Given the description of an element on the screen output the (x, y) to click on. 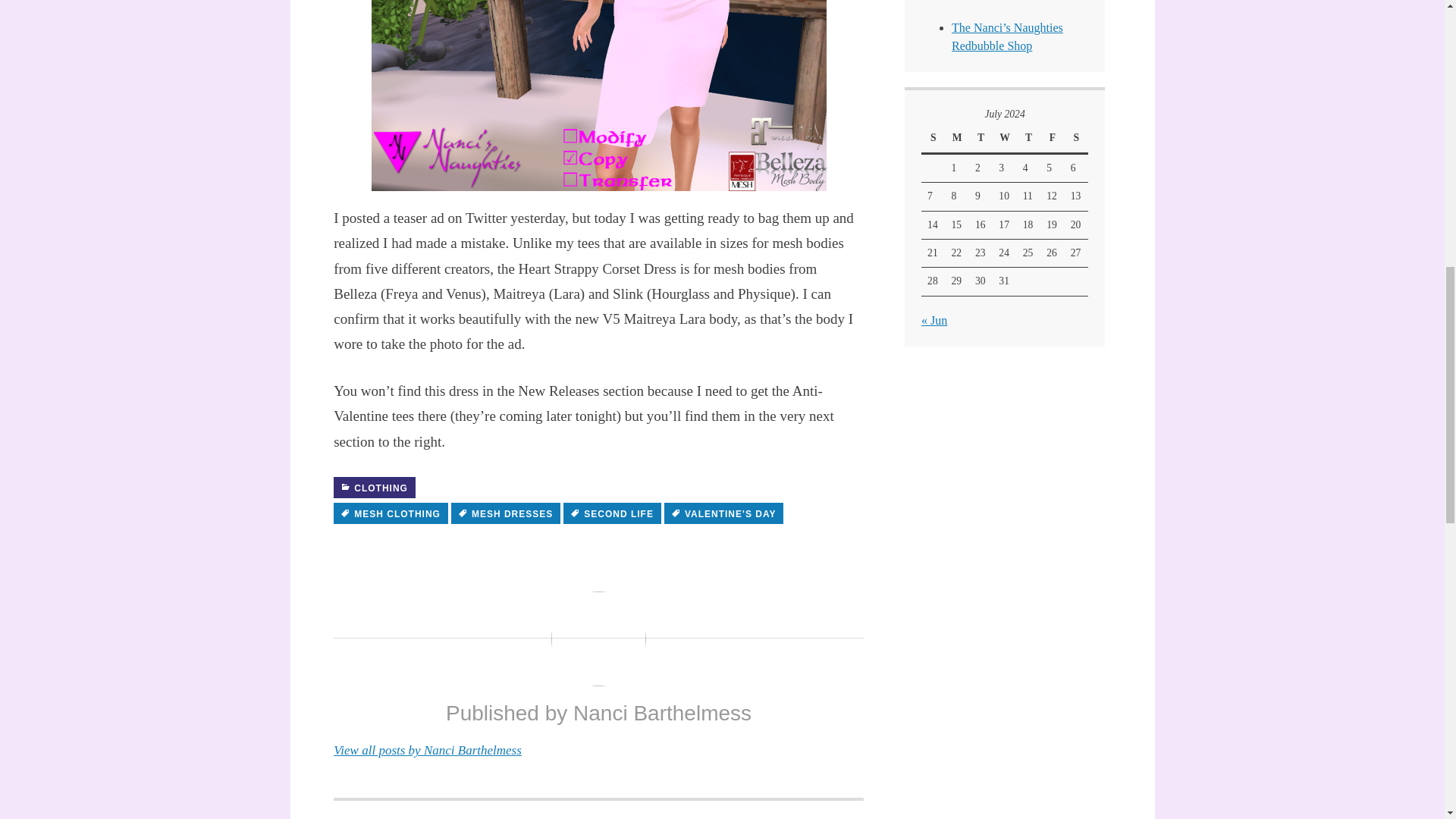
View all posts by Nanci Barthelmess (427, 749)
MESH CLOTHING (390, 513)
VALENTINE'S DAY (723, 513)
CLOTHING (612, 513)
MESH DRESSES (373, 486)
